Given the description of an element on the screen output the (x, y) to click on. 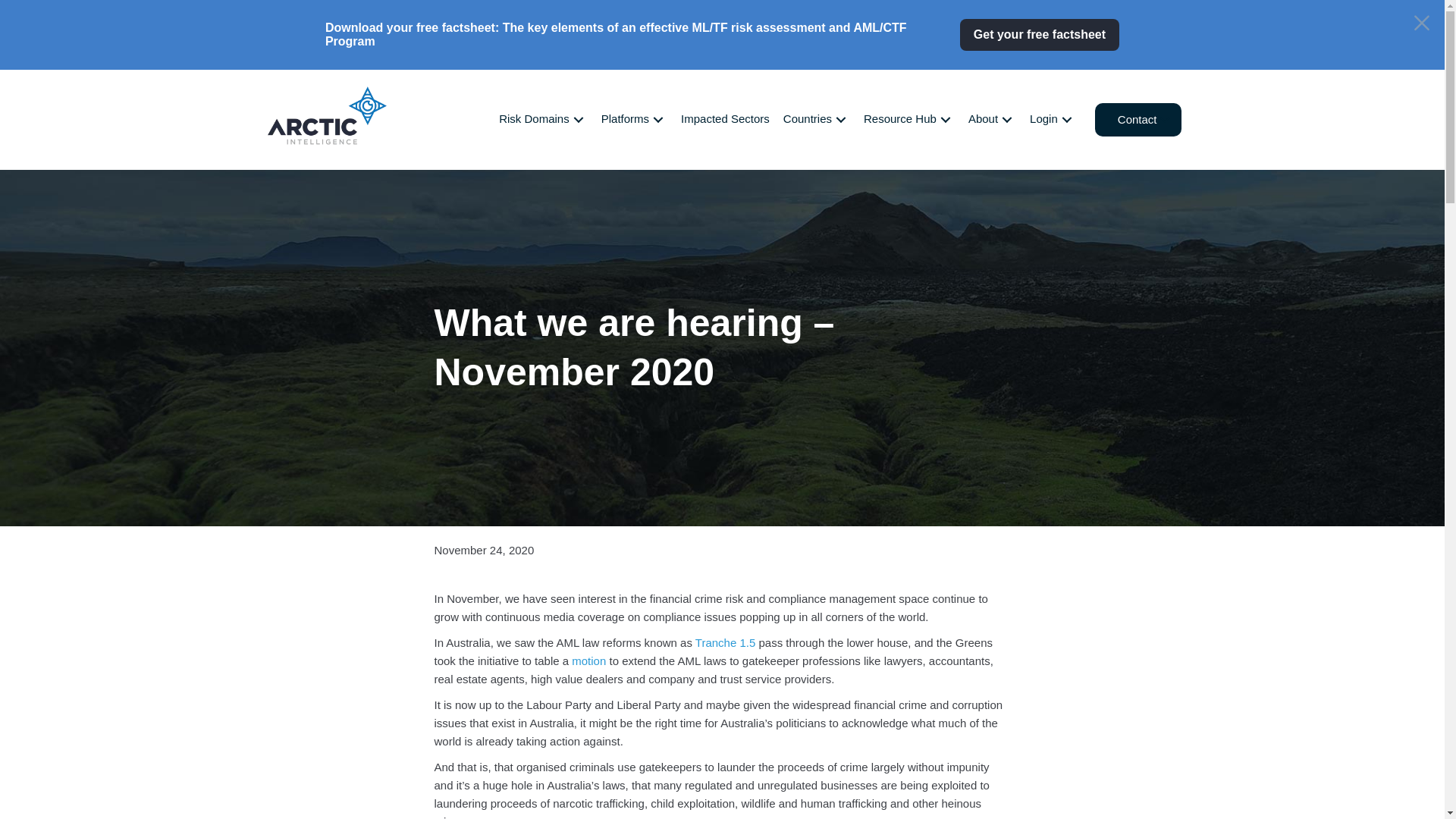
Impacted Sectors (726, 119)
Countries (817, 119)
Arctic Intelligence - home (326, 114)
Platforms (635, 119)
Risk Domains (544, 119)
